Given the description of an element on the screen output the (x, y) to click on. 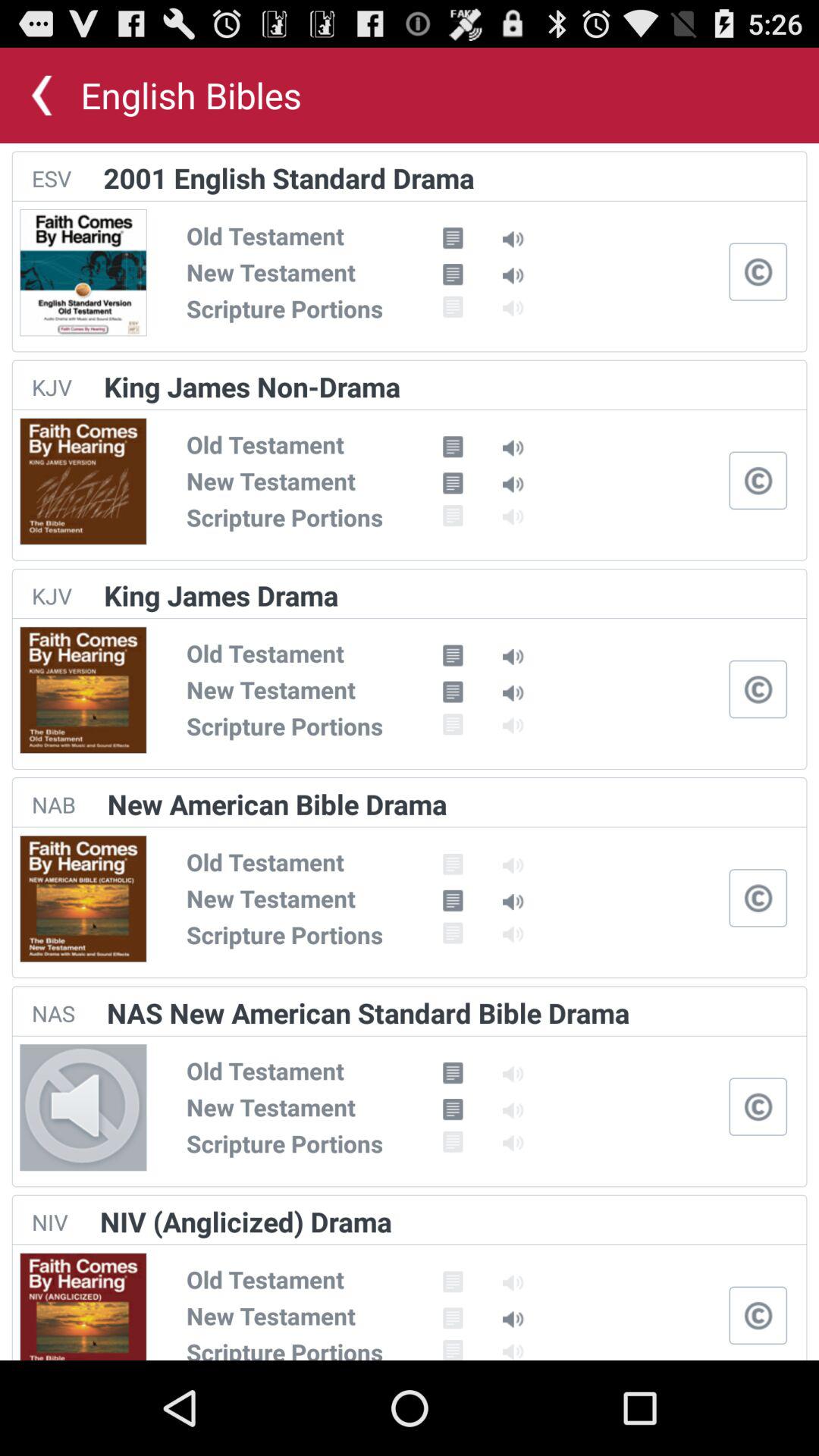
choose 2001 english standard app (288, 177)
